Given the description of an element on the screen output the (x, y) to click on. 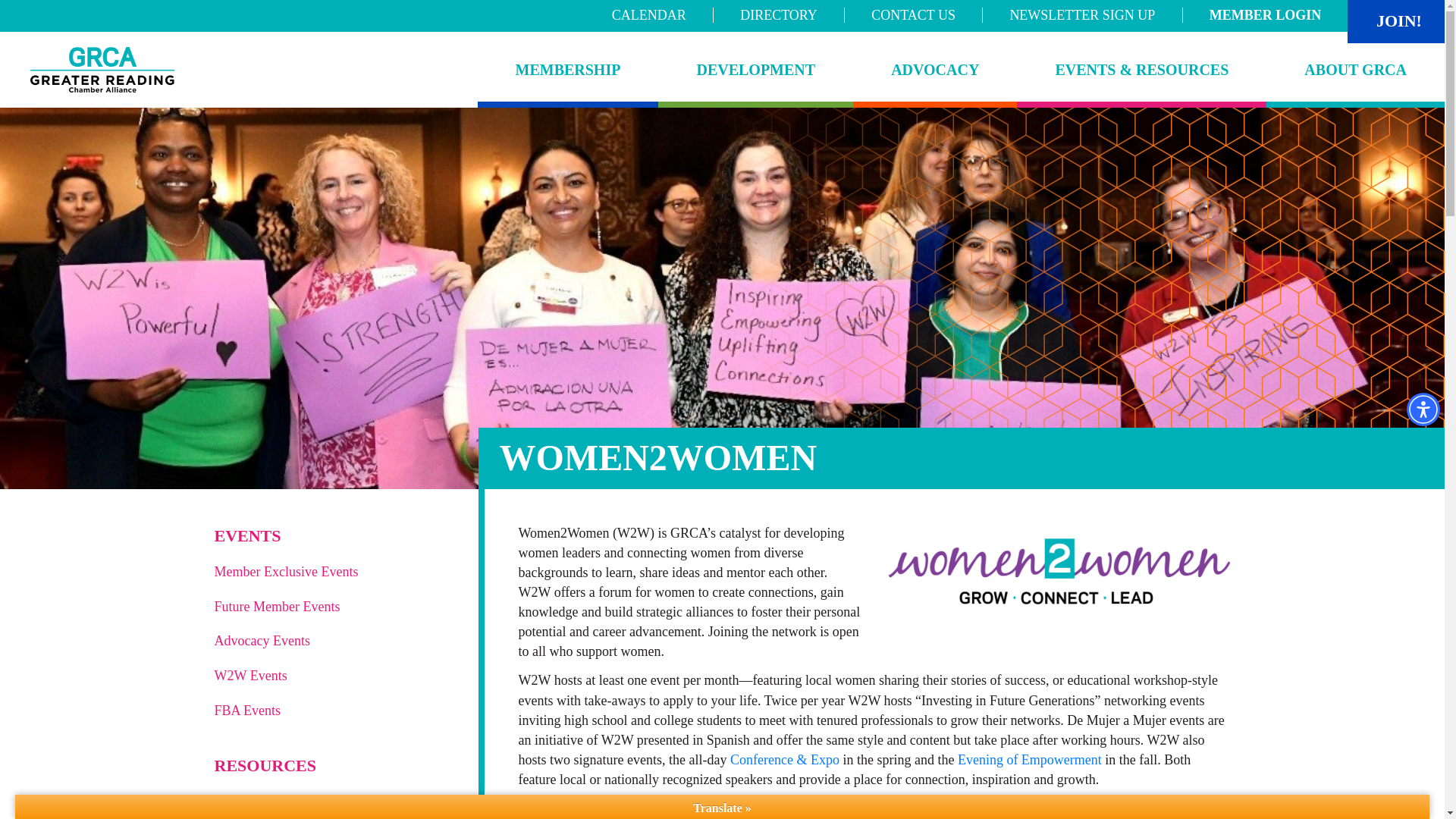
JOIN! (1399, 21)
DIRECTORY (778, 14)
CONTACT US (912, 14)
MEMBERSHIP (568, 69)
MEMBER LOGIN (1265, 14)
NEWSLETTER SIGN UP (1081, 14)
DEVELOPMENT (755, 69)
CALENDAR (649, 14)
Accessibility Menu (1422, 409)
